Given the description of an element on the screen output the (x, y) to click on. 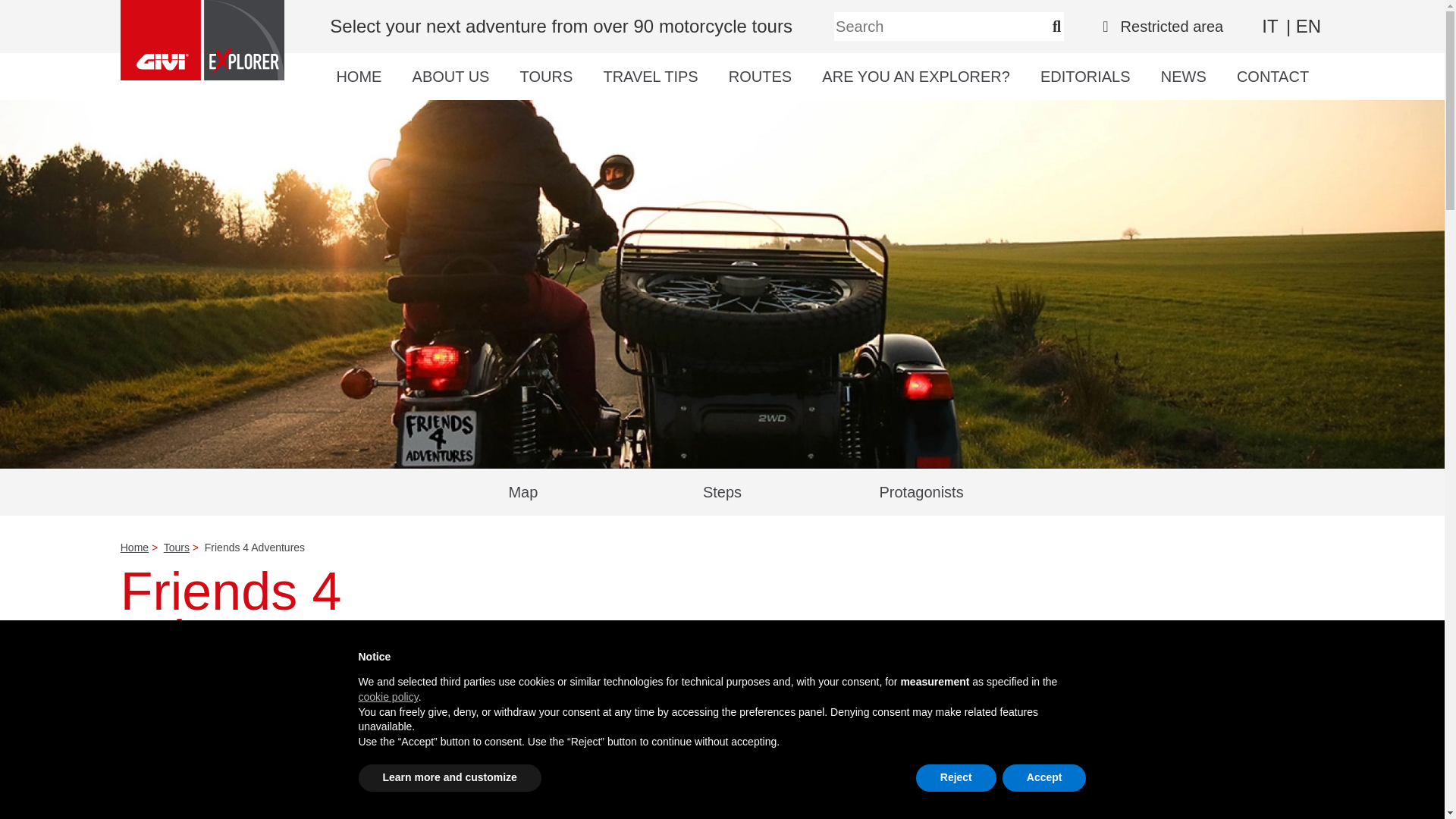
HOME (358, 82)
ROUTES (760, 82)
Restricted area (1162, 26)
ABOUT US (450, 82)
NEWS (1183, 82)
CONTACT (1272, 82)
Home (134, 547)
EDITORIALS (1086, 82)
Tours (176, 547)
TOURS (546, 82)
TRAVEL TIPS (649, 82)
ARE YOU AN EXPLORER? (916, 82)
